Given the description of an element on the screen output the (x, y) to click on. 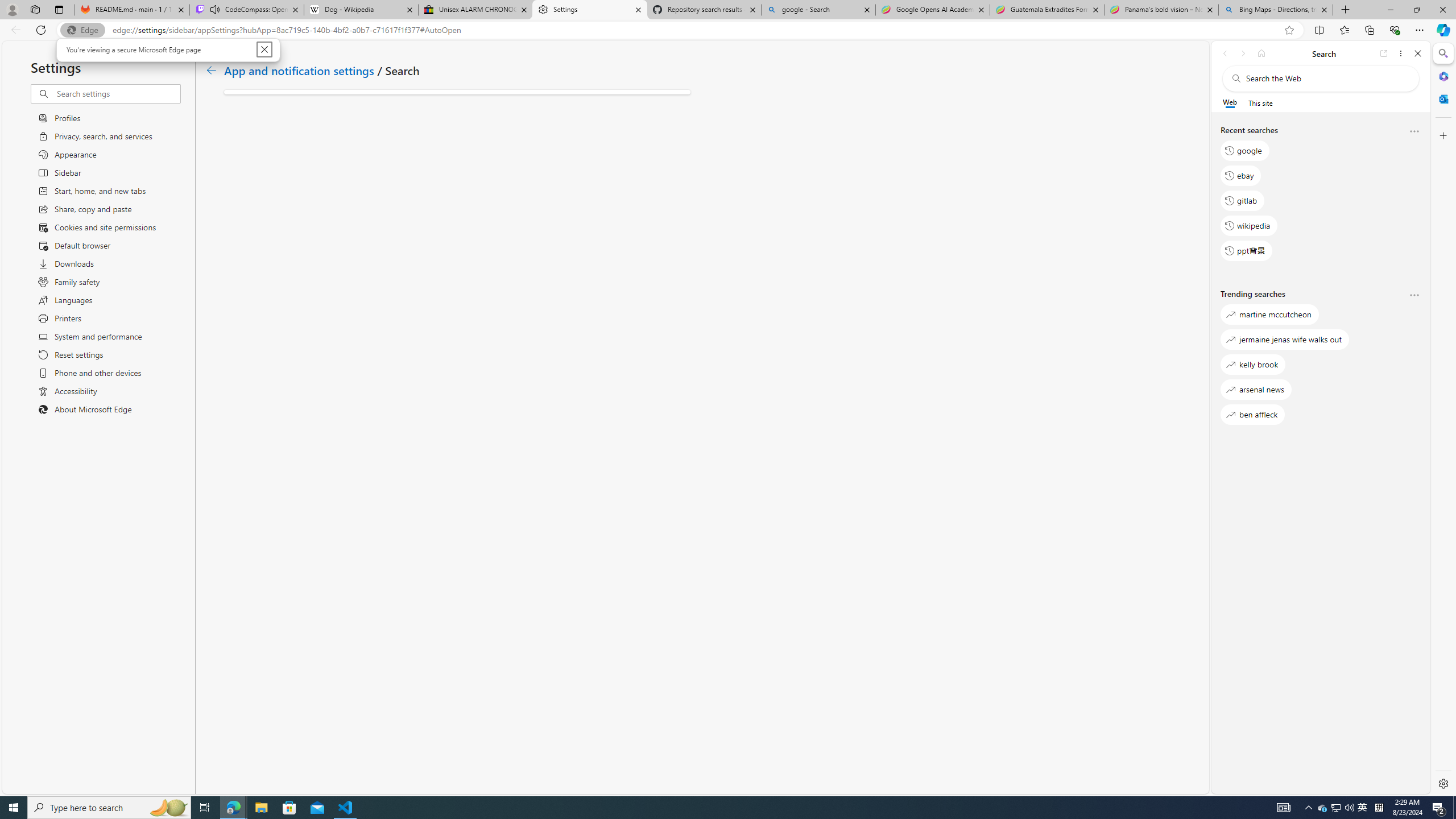
jermaine jenas wife walks out (1284, 339)
Mute tab (215, 8)
ebay (1240, 175)
